Given the description of an element on the screen output the (x, y) to click on. 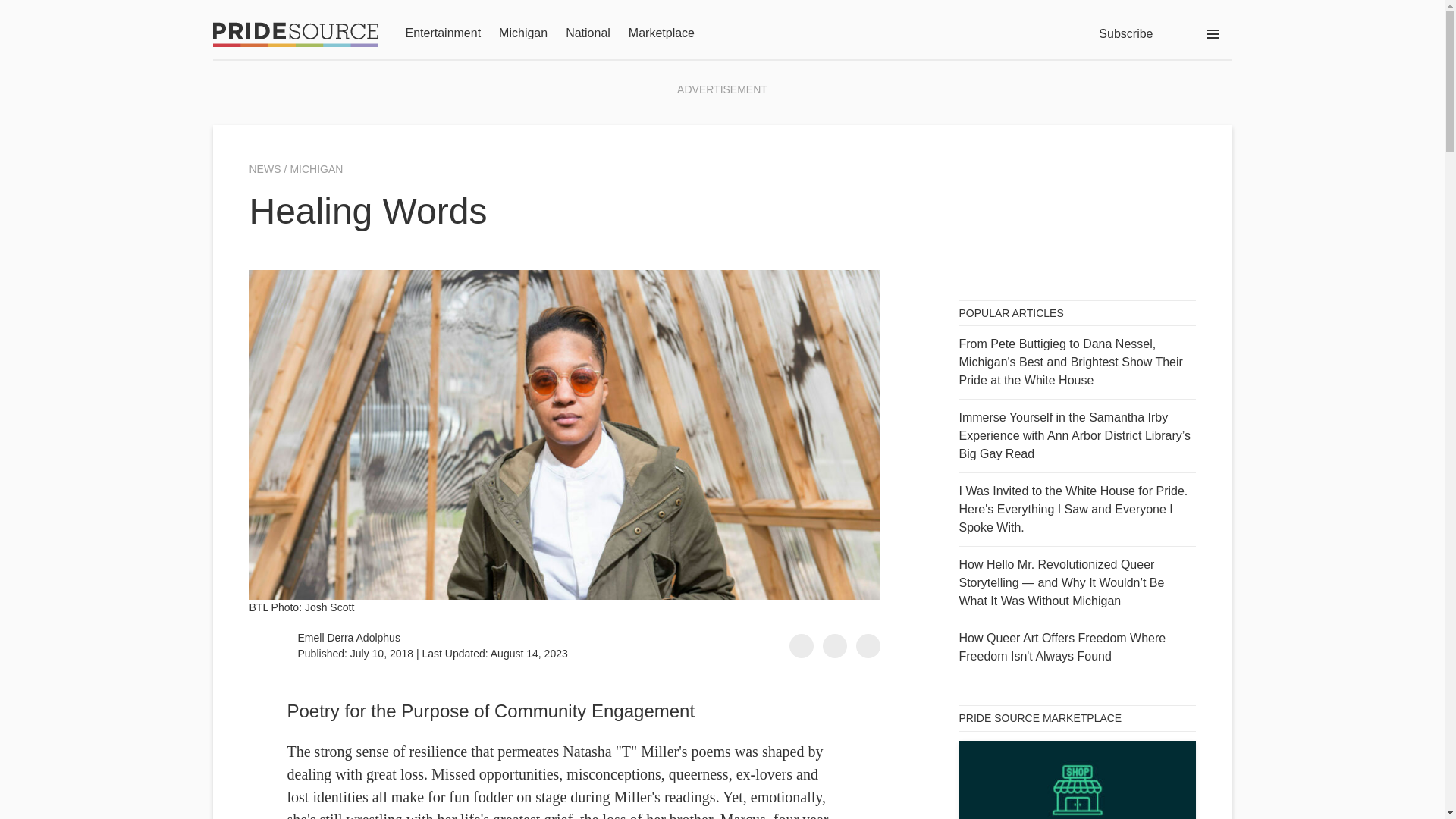
Entertainment (442, 34)
NEWS (265, 169)
Marketplace (661, 34)
National (588, 34)
Share by Email (867, 645)
Subscribe (1125, 33)
Michigan (523, 34)
